Given the description of an element on the screen output the (x, y) to click on. 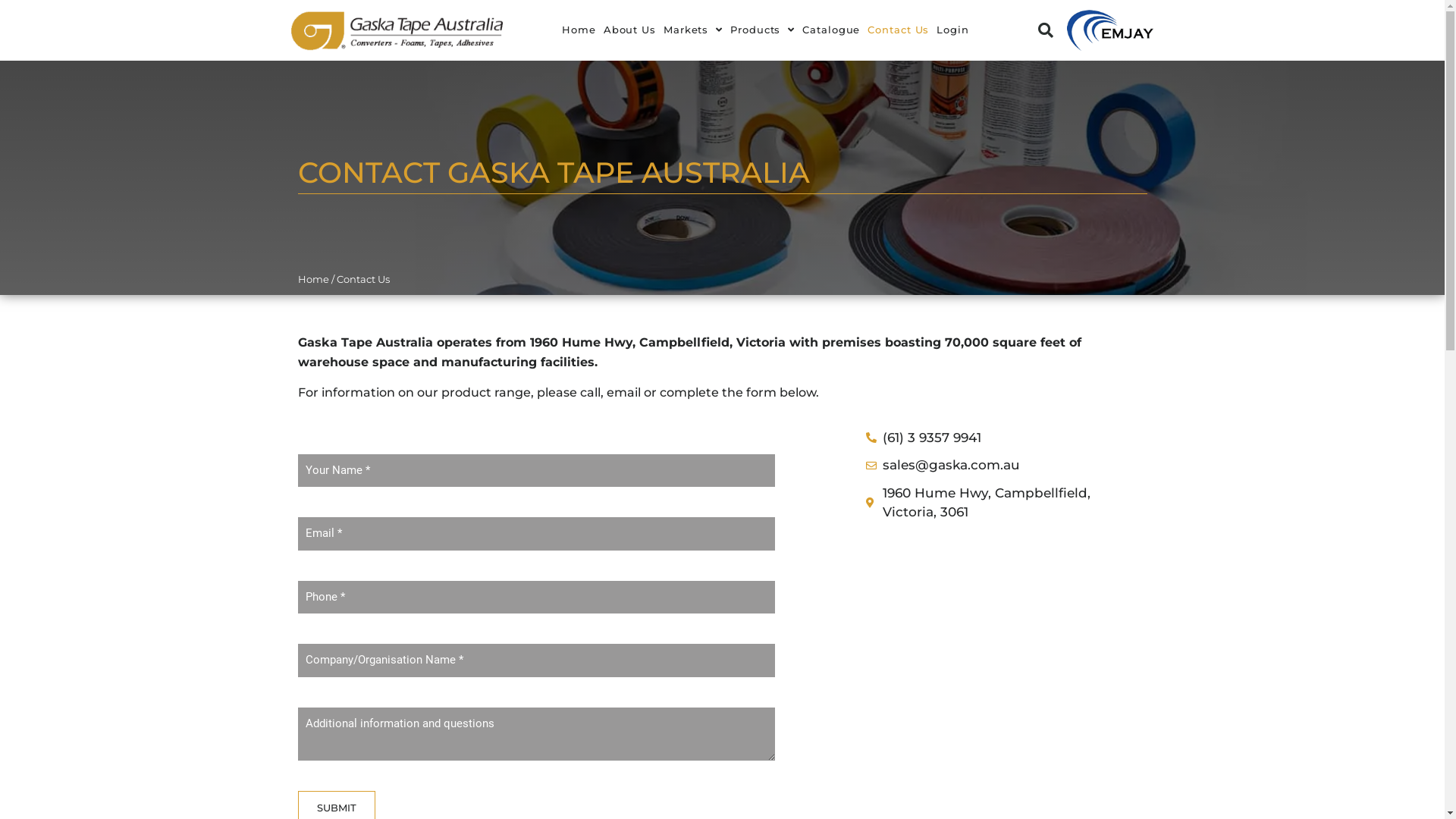
Contact Us Element type: text (897, 29)
sales@gaska.com.au Element type: text (988, 465)
Catalogue Element type: text (830, 29)
1960 Hume Hwy, Campbellfield, Victoria, 3061 Element type: text (988, 502)
Markets Element type: text (692, 29)
Home Element type: text (312, 279)
Home Element type: text (578, 29)
Products Element type: text (762, 29)
About Us Element type: text (629, 29)
Login Element type: text (952, 29)
